Given the description of an element on the screen output the (x, y) to click on. 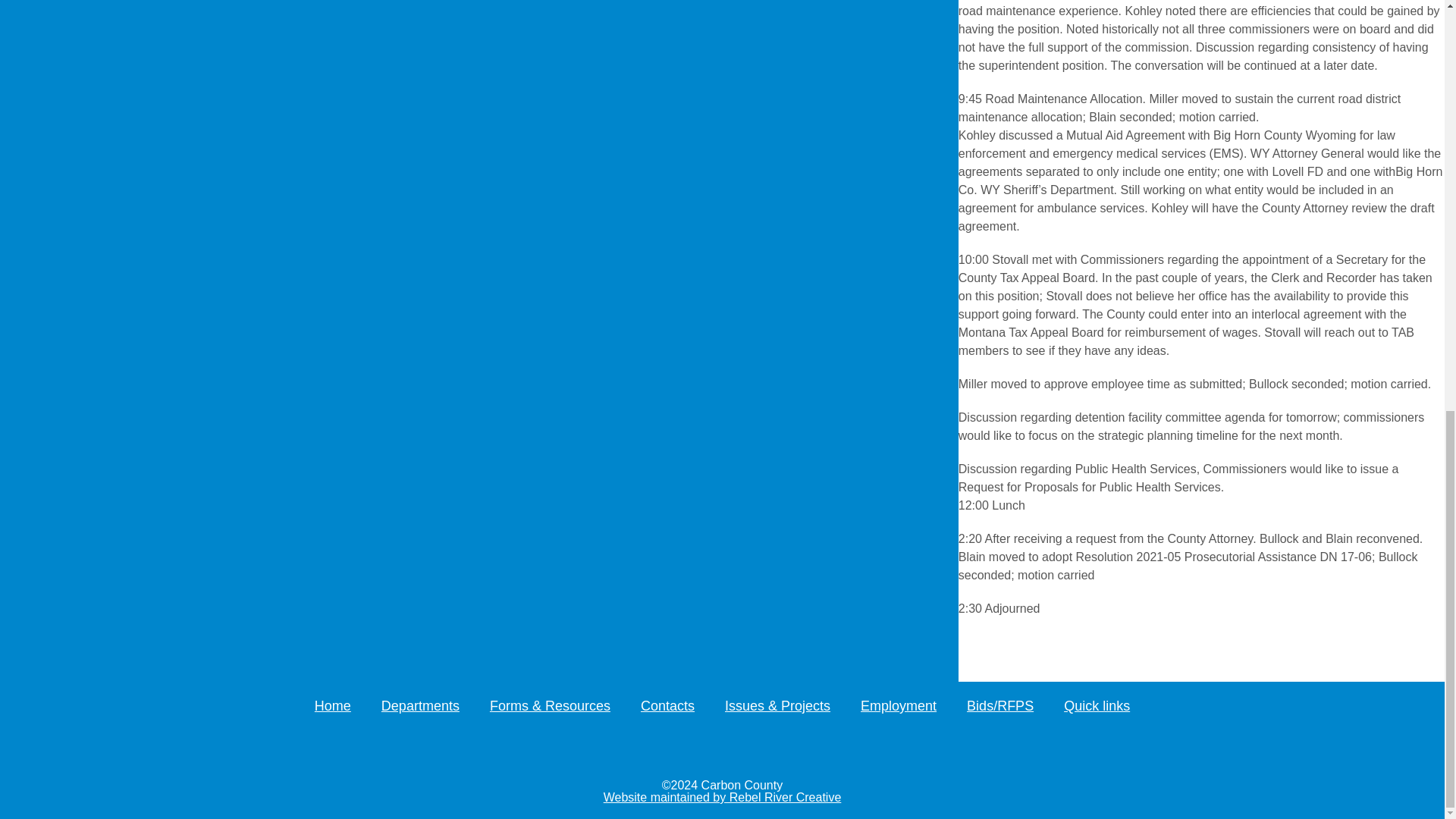
Contacts (667, 705)
Departments (420, 705)
Home (332, 705)
